Given the description of an element on the screen output the (x, y) to click on. 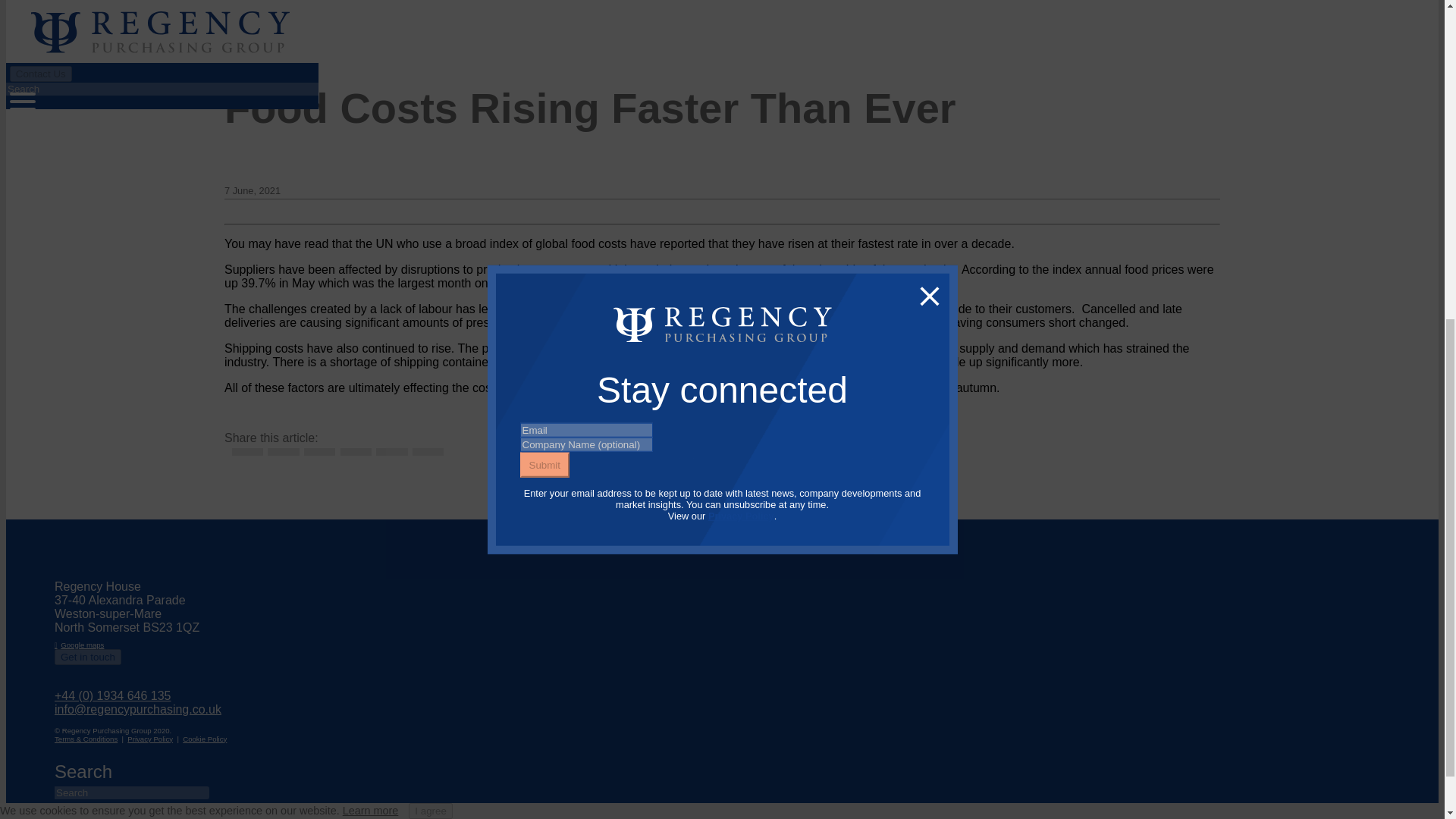
Share to Facebook (318, 451)
Back to top (722, 529)
Share to Twitter (282, 451)
Share to LinkedIn (246, 451)
Share via Email (427, 451)
Share via Skype (391, 451)
Share via Whatsapp (355, 451)
